Given the description of an element on the screen output the (x, y) to click on. 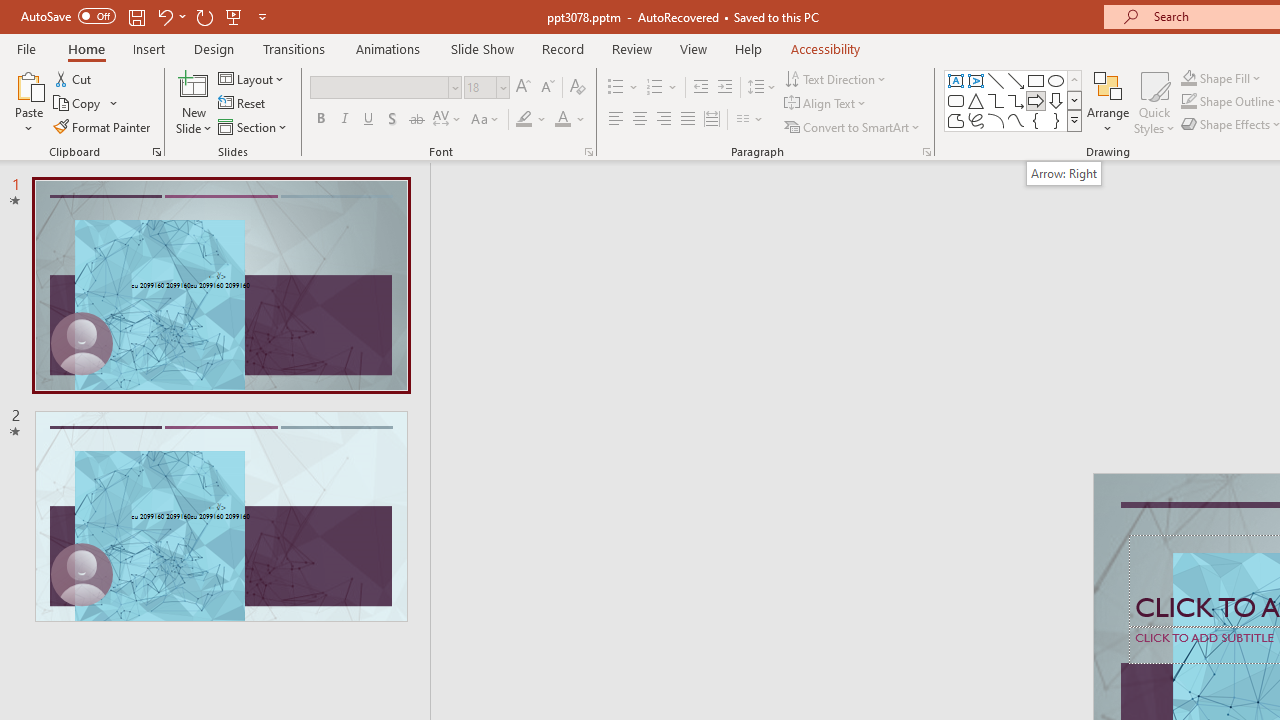
Section (254, 126)
Arrow: Right (1064, 173)
Left Brace (1035, 120)
Vertical Text Box (975, 80)
Curve (1016, 120)
Connector: Elbow Arrow (1016, 100)
